Given the description of an element on the screen output the (x, y) to click on. 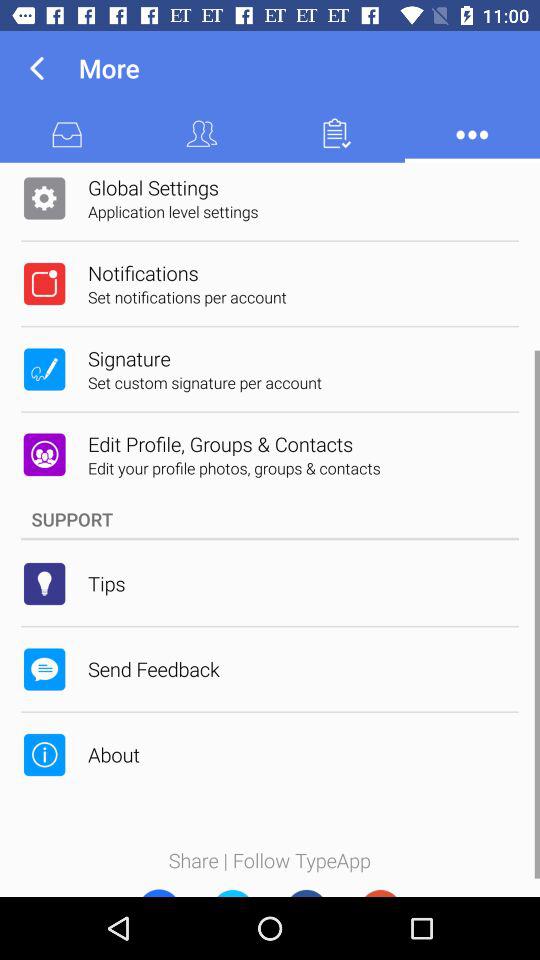
press icon next to more item (36, 68)
